Given the description of an element on the screen output the (x, y) to click on. 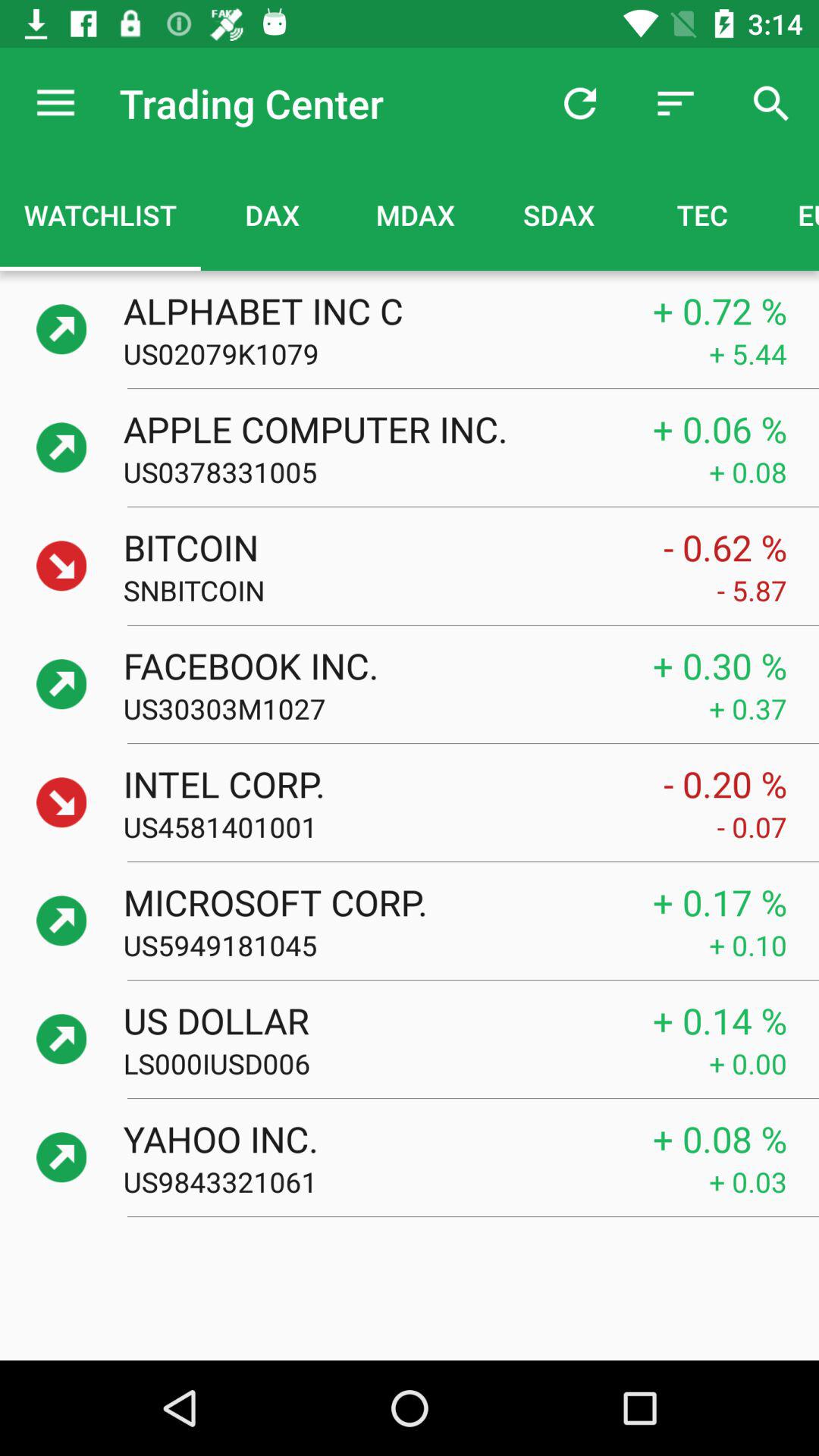
click the item next to the + 5.44 (416, 353)
